Given the description of an element on the screen output the (x, y) to click on. 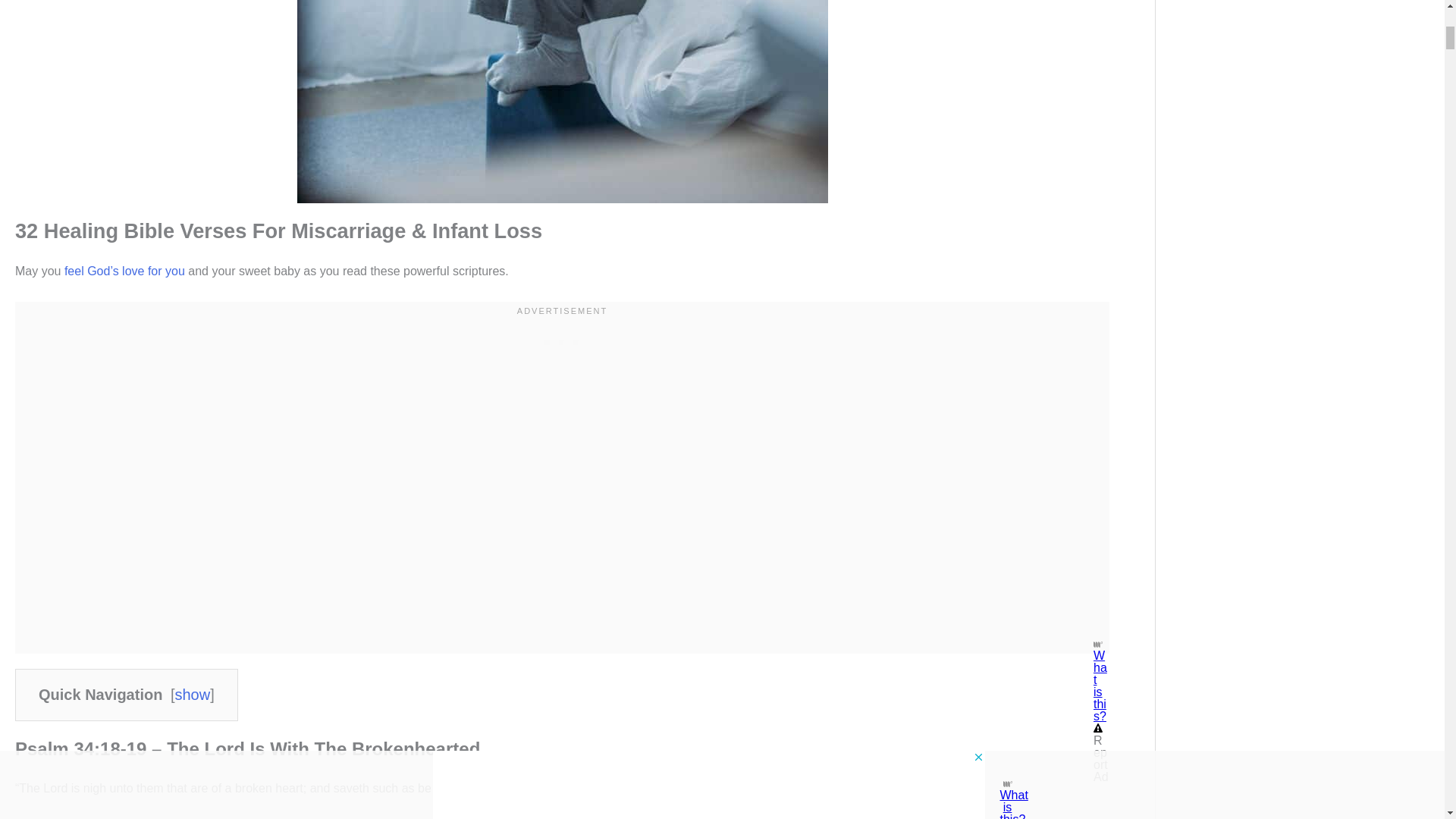
show (191, 694)
3rd party ad content (562, 338)
